Given the description of an element on the screen output the (x, y) to click on. 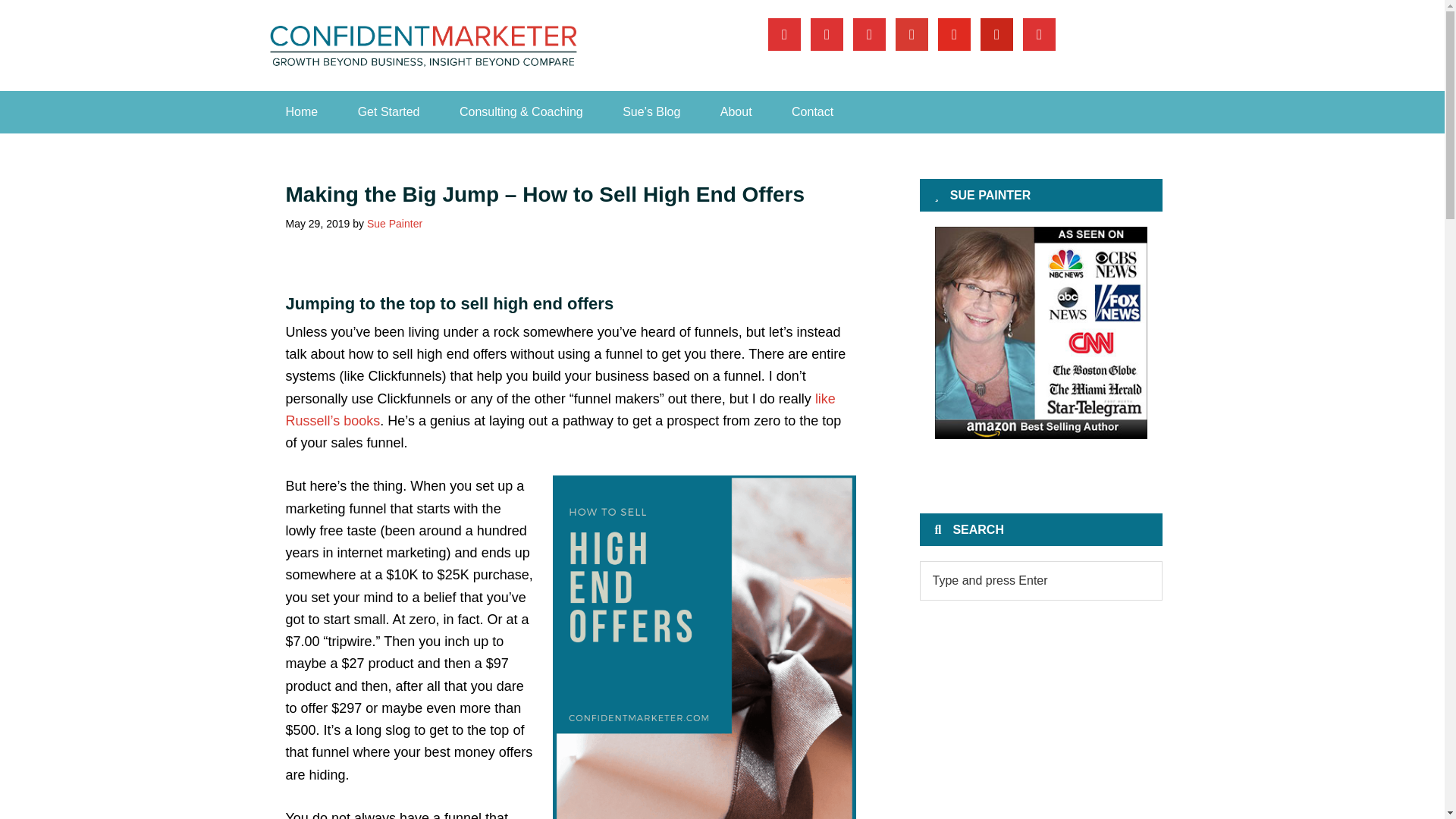
Contact (812, 111)
linkedin (869, 32)
youtube (954, 32)
instagram (911, 32)
Default Label (869, 32)
About (735, 111)
Facebook (784, 32)
rss (1039, 32)
Sue Painter (394, 223)
Home (301, 111)
Instagram (911, 32)
Digital Marketing, Small Business Strategist (422, 44)
Twitter (826, 32)
Default Label (954, 32)
